Given the description of an element on the screen output the (x, y) to click on. 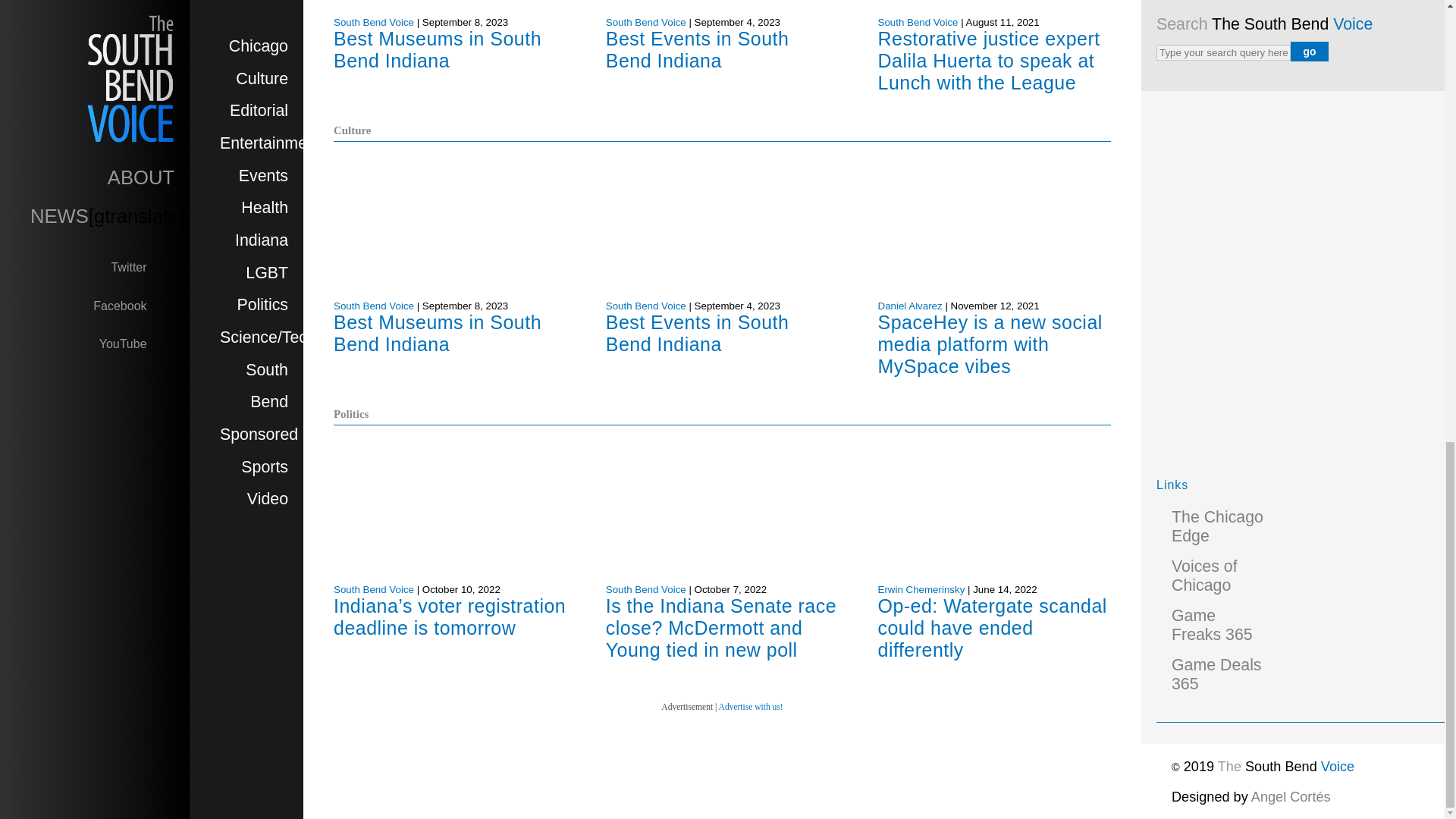
Posts by South Bend Voice (917, 21)
Posts by Erwin Chemerinsky (921, 589)
Posts by South Bend Voice (373, 589)
Posts by South Bend Voice (373, 306)
Posts by South Bend Voice (645, 306)
Posts by South Bend Voice (373, 21)
Posts by South Bend Voice (645, 21)
Posts by South Bend Voice (645, 589)
Posts by Daniel Alvarez (909, 306)
